Given the description of an element on the screen output the (x, y) to click on. 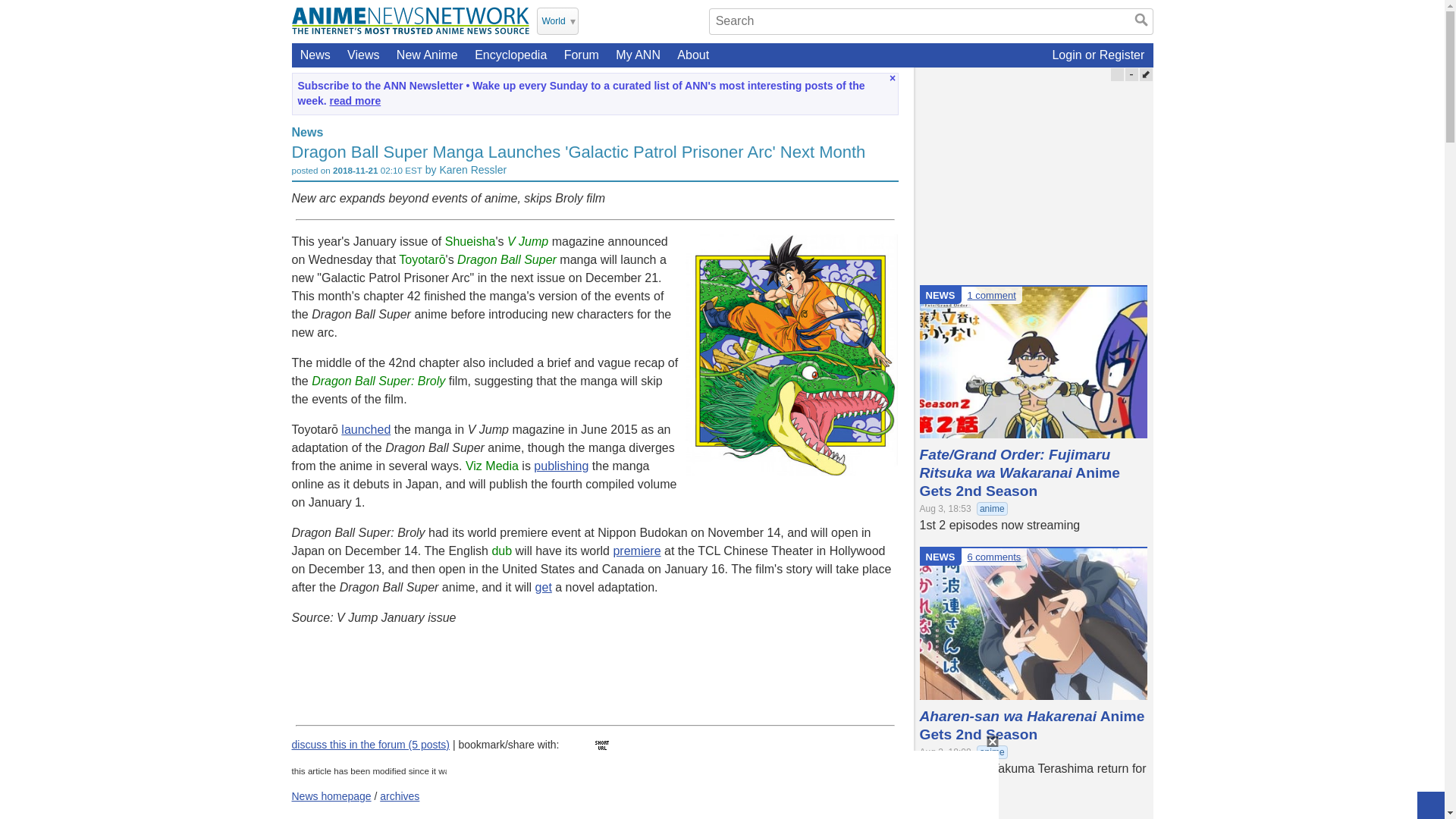
Youtube (612, 20)
Facebook (632, 20)
Bluesky (691, 20)
Choose Your Edition (557, 21)
TikTok (671, 20)
Twitter (592, 20)
Instagram (652, 20)
Return to Homepage (409, 20)
